Given the description of an element on the screen output the (x, y) to click on. 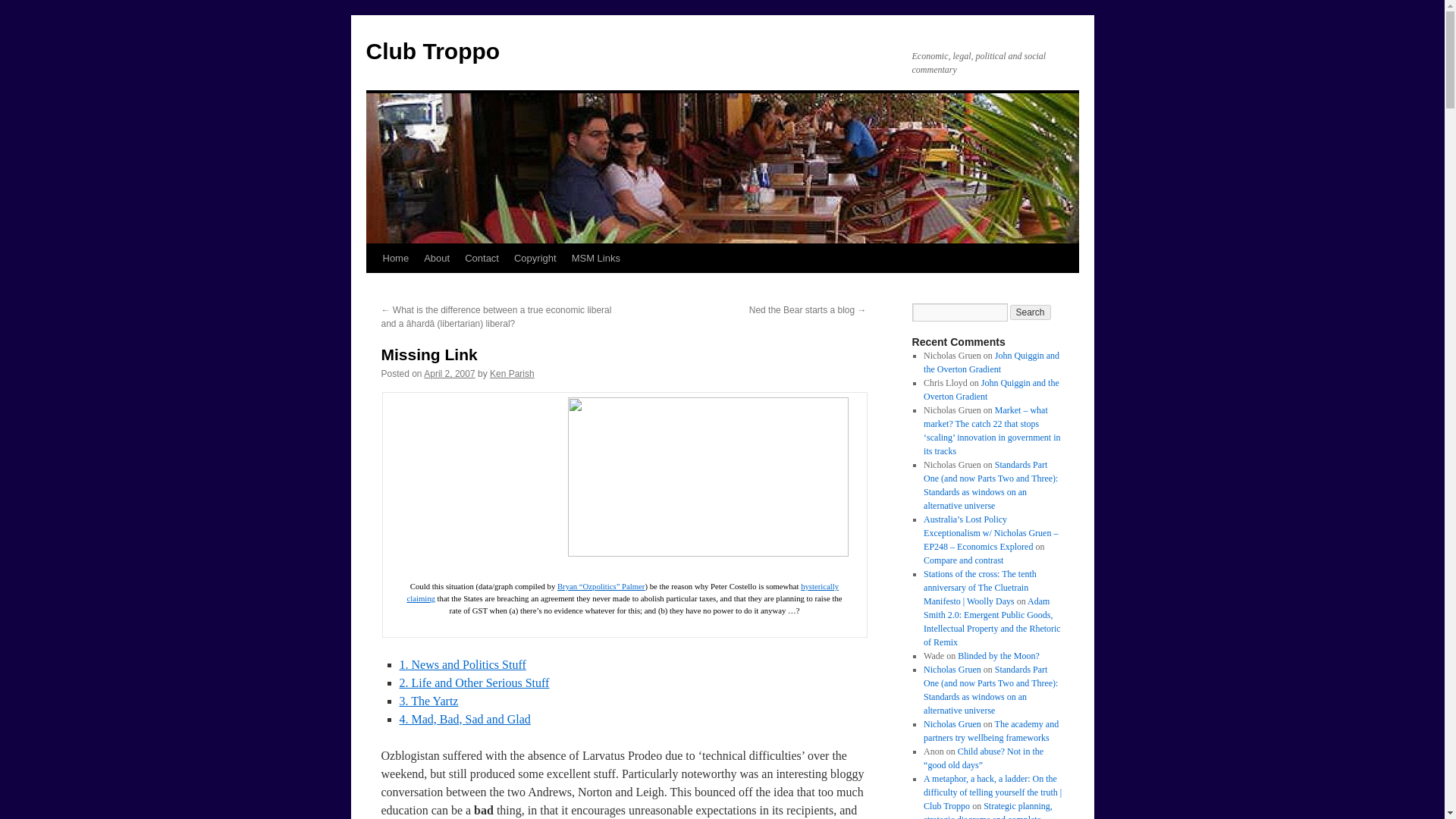
MSM Links (595, 258)
Home (395, 258)
1. News and Politics Stuff (461, 664)
2. Life and Other Serious Stuff (473, 682)
8:10 pm (448, 373)
Club Troppo (432, 50)
About (436, 258)
Contact (481, 258)
3. The Yartz (428, 700)
hysterically claiming (622, 591)
